Given the description of an element on the screen output the (x, y) to click on. 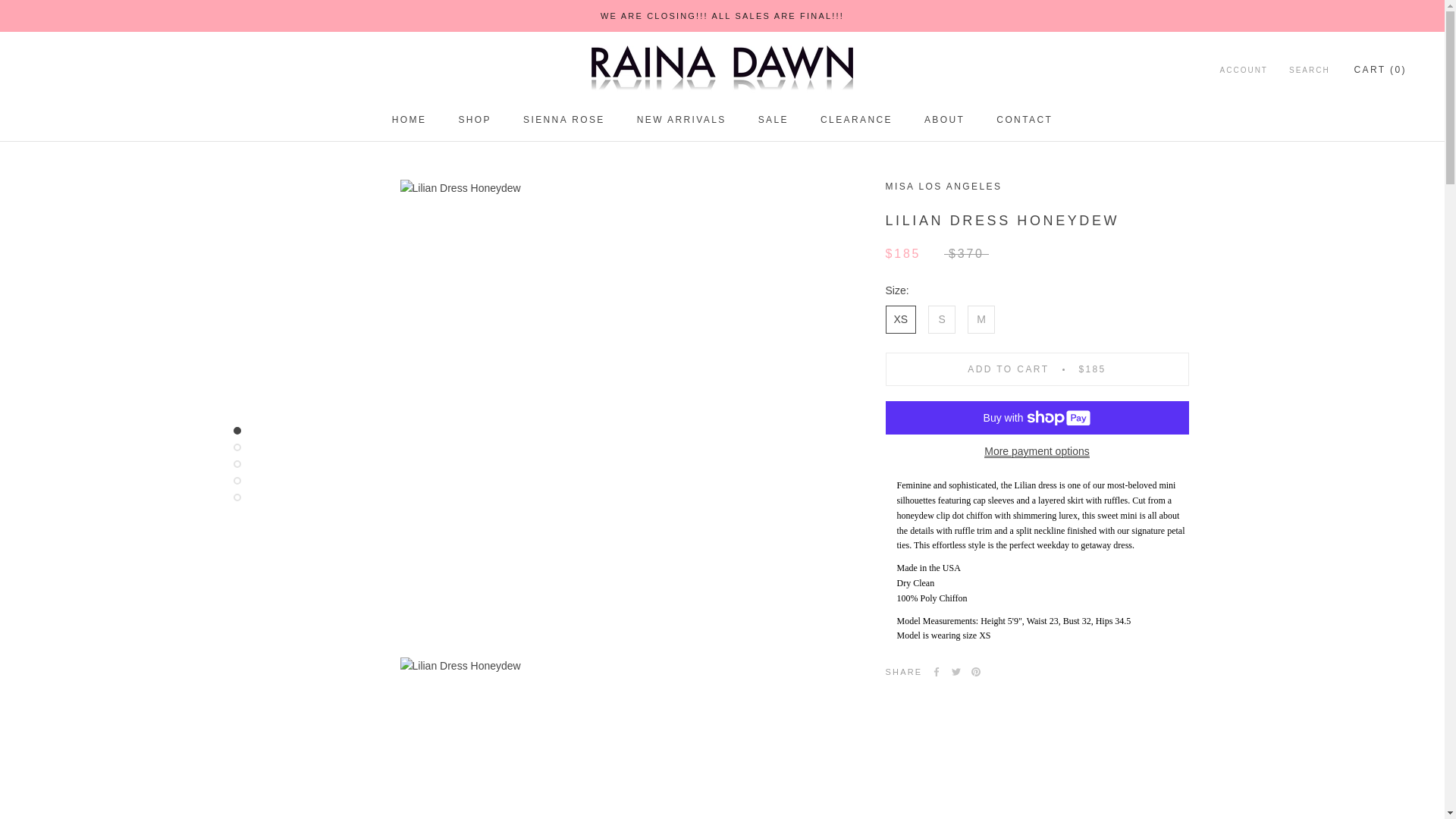
WE ARE CLOSING!!! ALL SALES ARE FINAL!!! (408, 119)
SHOP (721, 15)
